Given the description of an element on the screen output the (x, y) to click on. 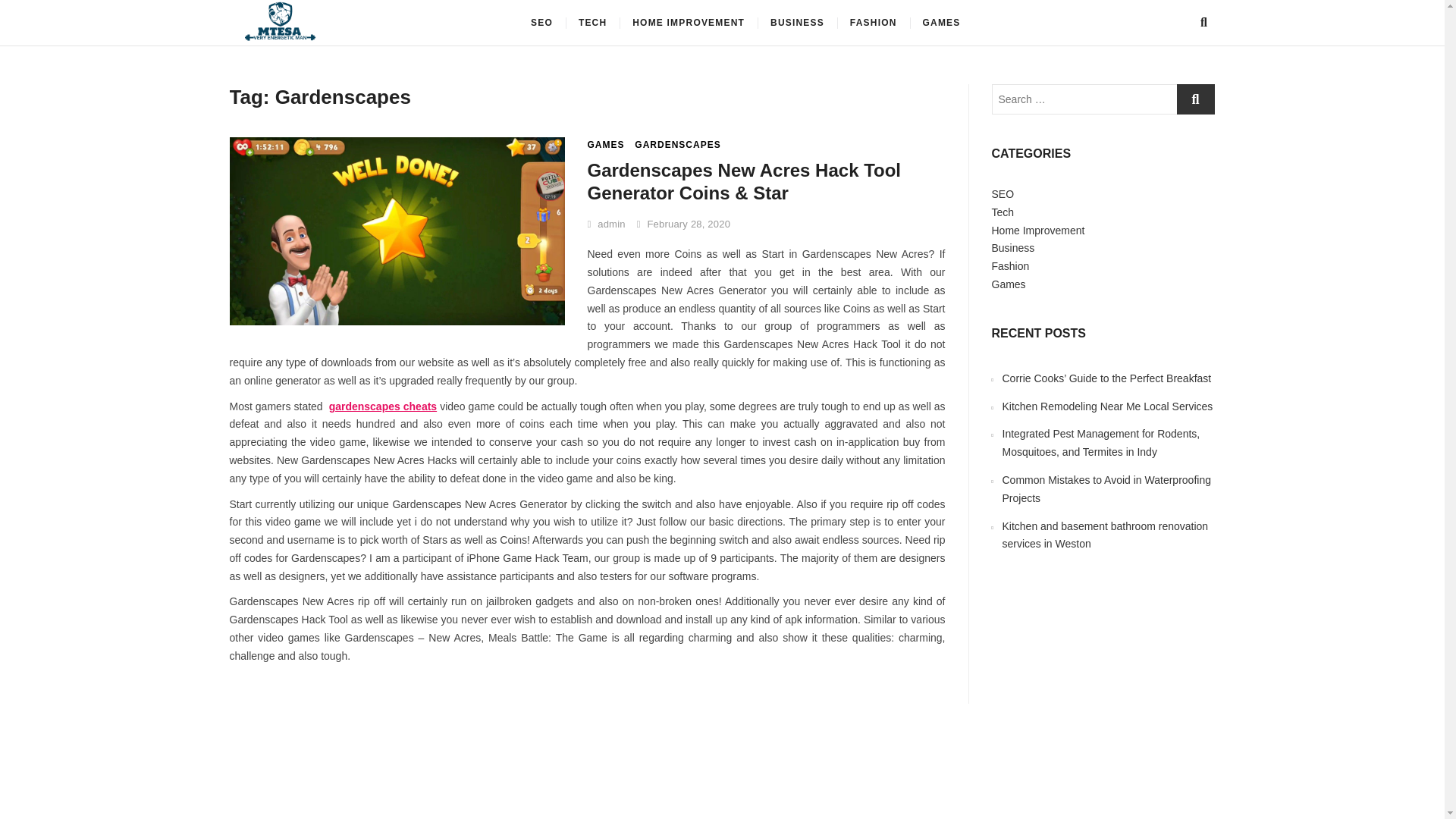
Fashion (1010, 265)
admin (605, 224)
Games (1008, 284)
GARDENSCAPES (677, 144)
GAMES (605, 144)
gardenscapes cheats (383, 406)
February 28, 2020 (683, 224)
TECH (592, 22)
Mtesa (374, 27)
